Given the description of an element on the screen output the (x, y) to click on. 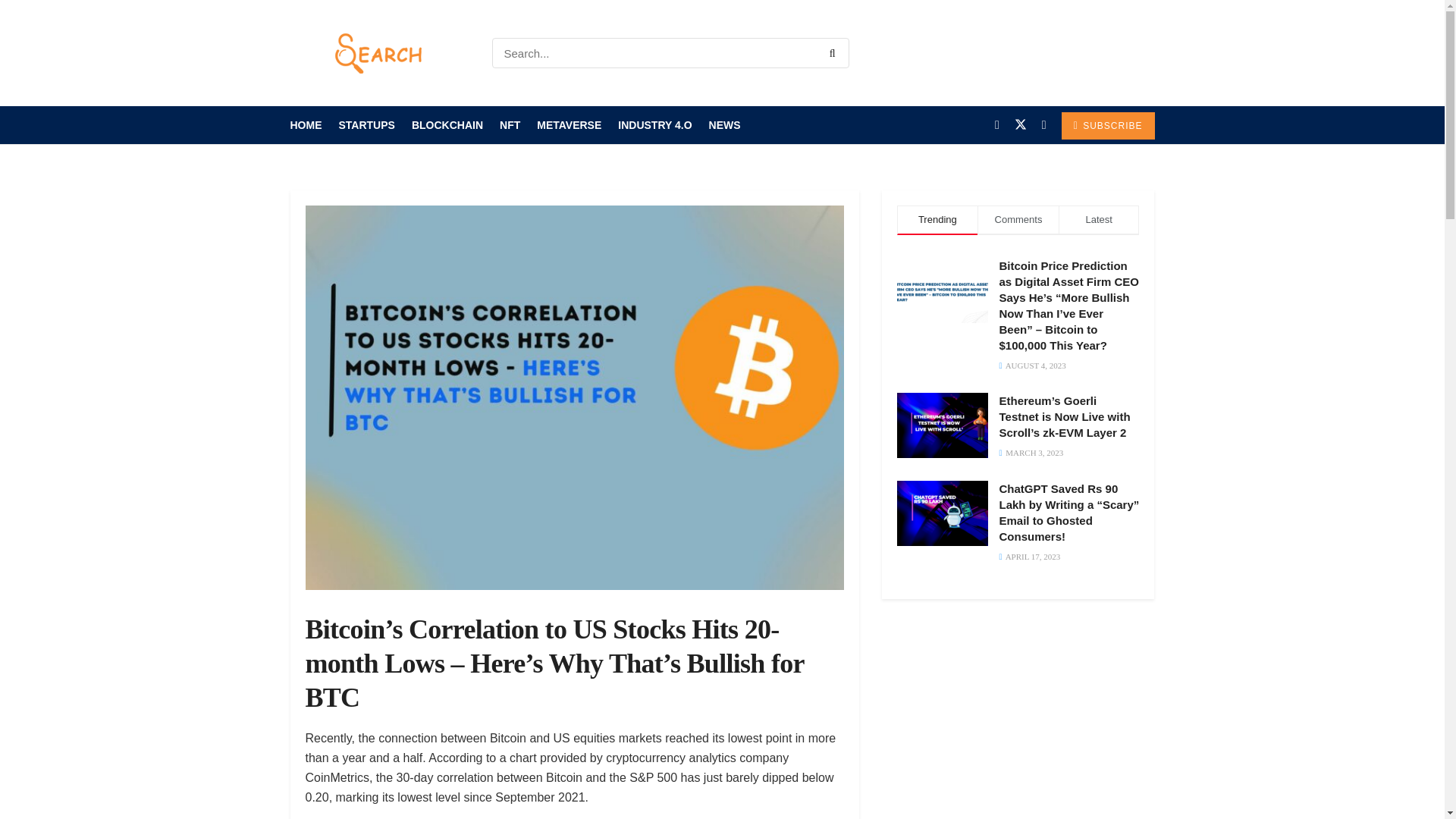
STARTUPS (365, 124)
NFT (509, 124)
NEWS (725, 124)
HOME (305, 124)
SUBSCRIBE (1107, 125)
BLOCKCHAIN (447, 124)
Login (1135, 53)
METAVERSE (569, 124)
INDUSTRY 4.O (654, 124)
